Given the description of an element on the screen output the (x, y) to click on. 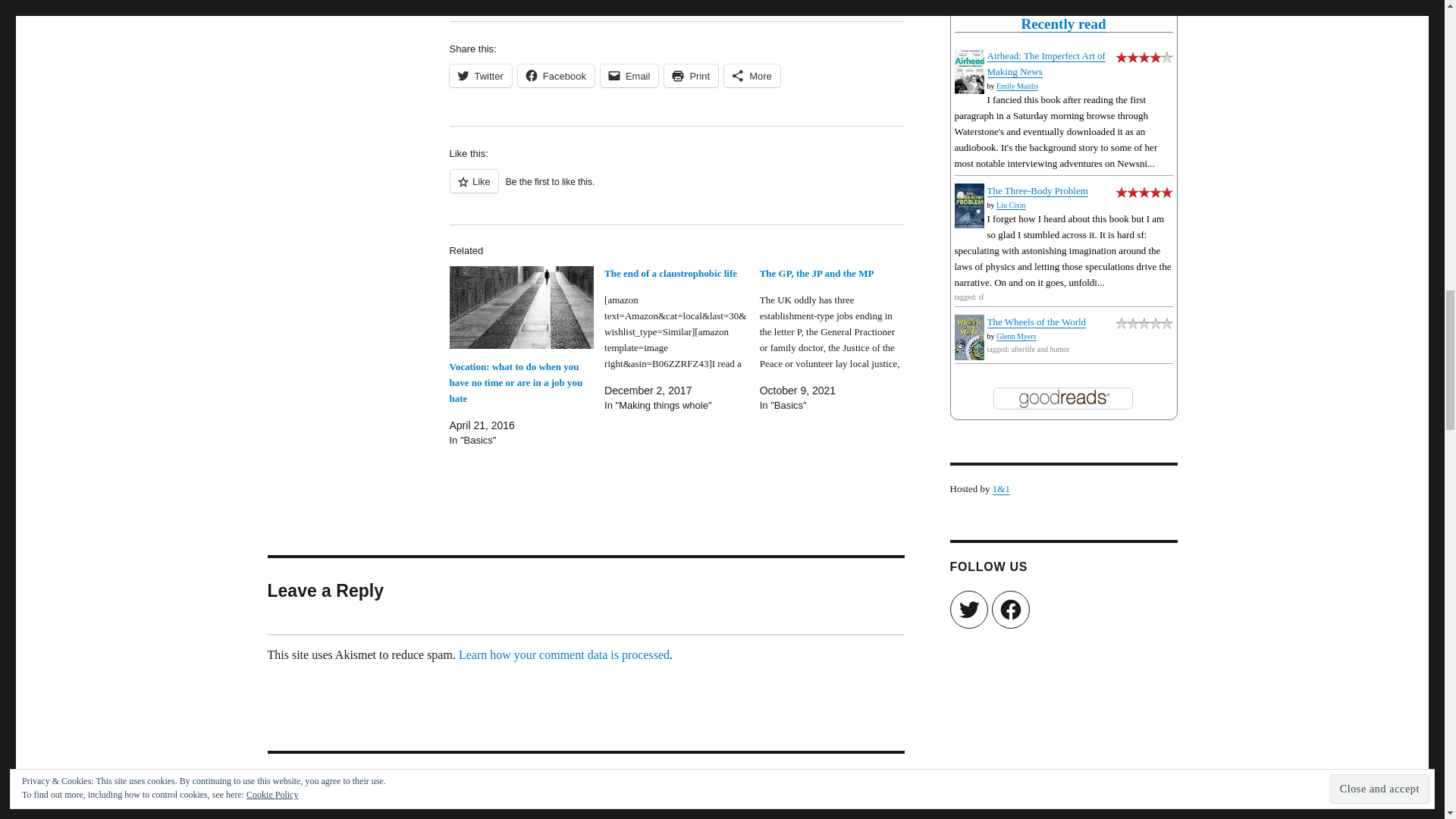
The end of a claustrophobic life (682, 340)
Click to share on Twitter (479, 75)
Click to print (690, 75)
The end of a claustrophobic life (670, 273)
Click to share on Facebook (556, 75)
The GP, the JP and the MP (837, 340)
Click to email a link to a friend (629, 75)
Like or Reblog (676, 189)
